Given the description of an element on the screen output the (x, y) to click on. 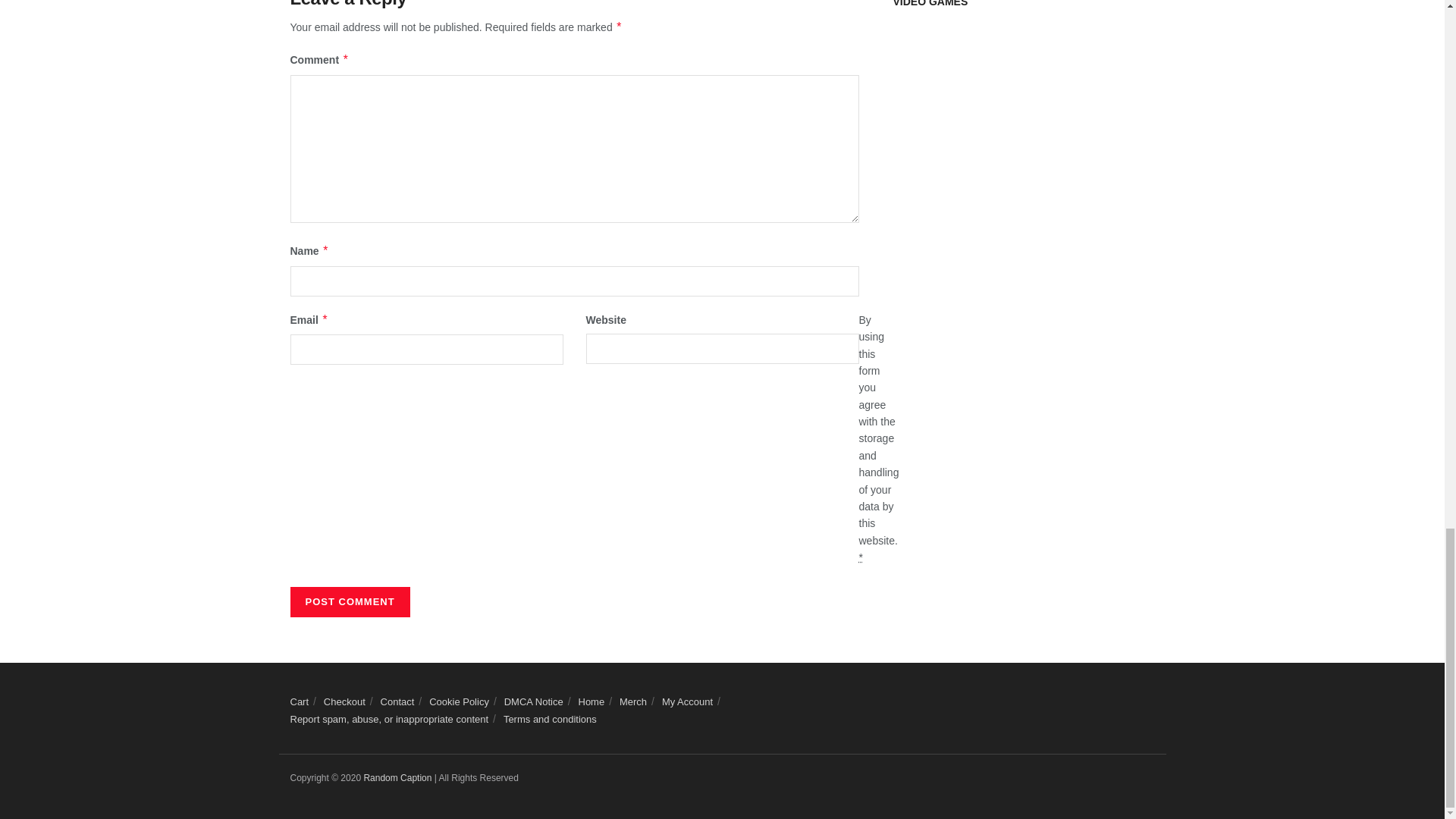
You need to accept this checkbox (860, 557)
Post Comment (349, 602)
